Given the description of an element on the screen output the (x, y) to click on. 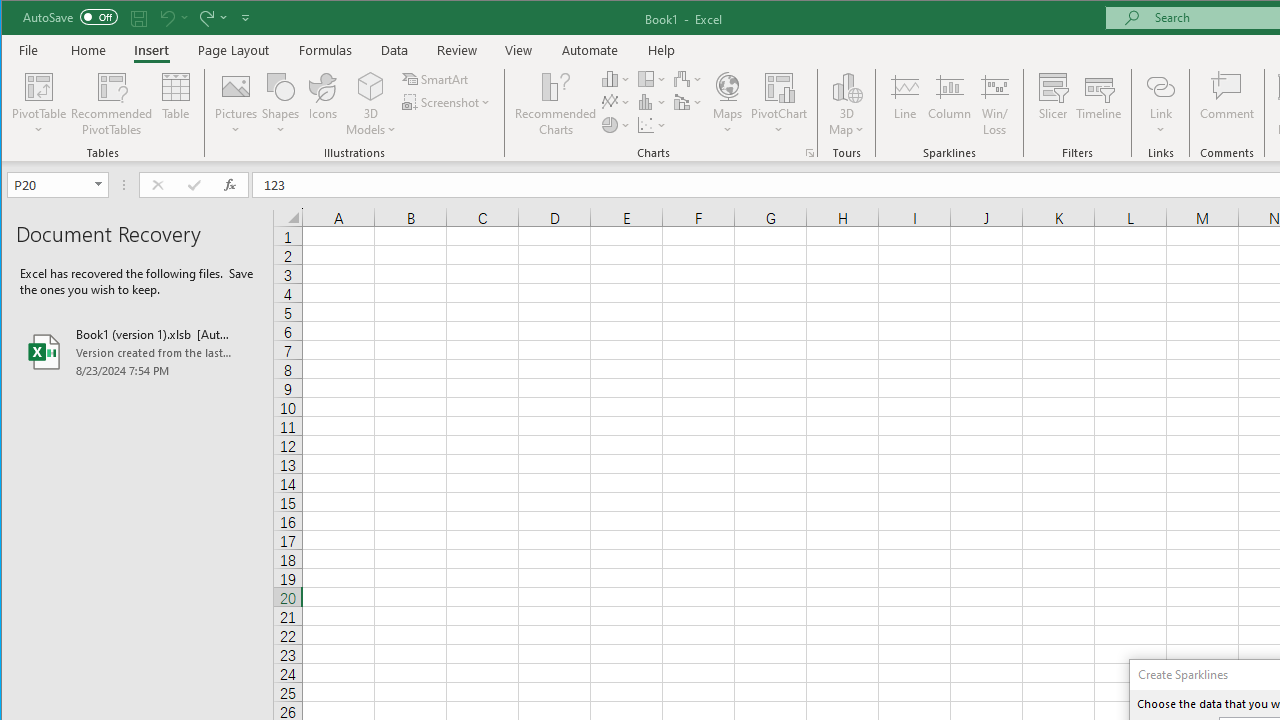
Icons (323, 104)
PivotTable (39, 86)
Pictures (235, 104)
3D Map (846, 86)
Help (661, 50)
PivotChart (779, 86)
Customize Quick Access Toolbar (245, 17)
Review (456, 50)
Shapes (280, 104)
Automate (589, 50)
Home (88, 50)
Slicer... (1052, 104)
